Given the description of an element on the screen output the (x, y) to click on. 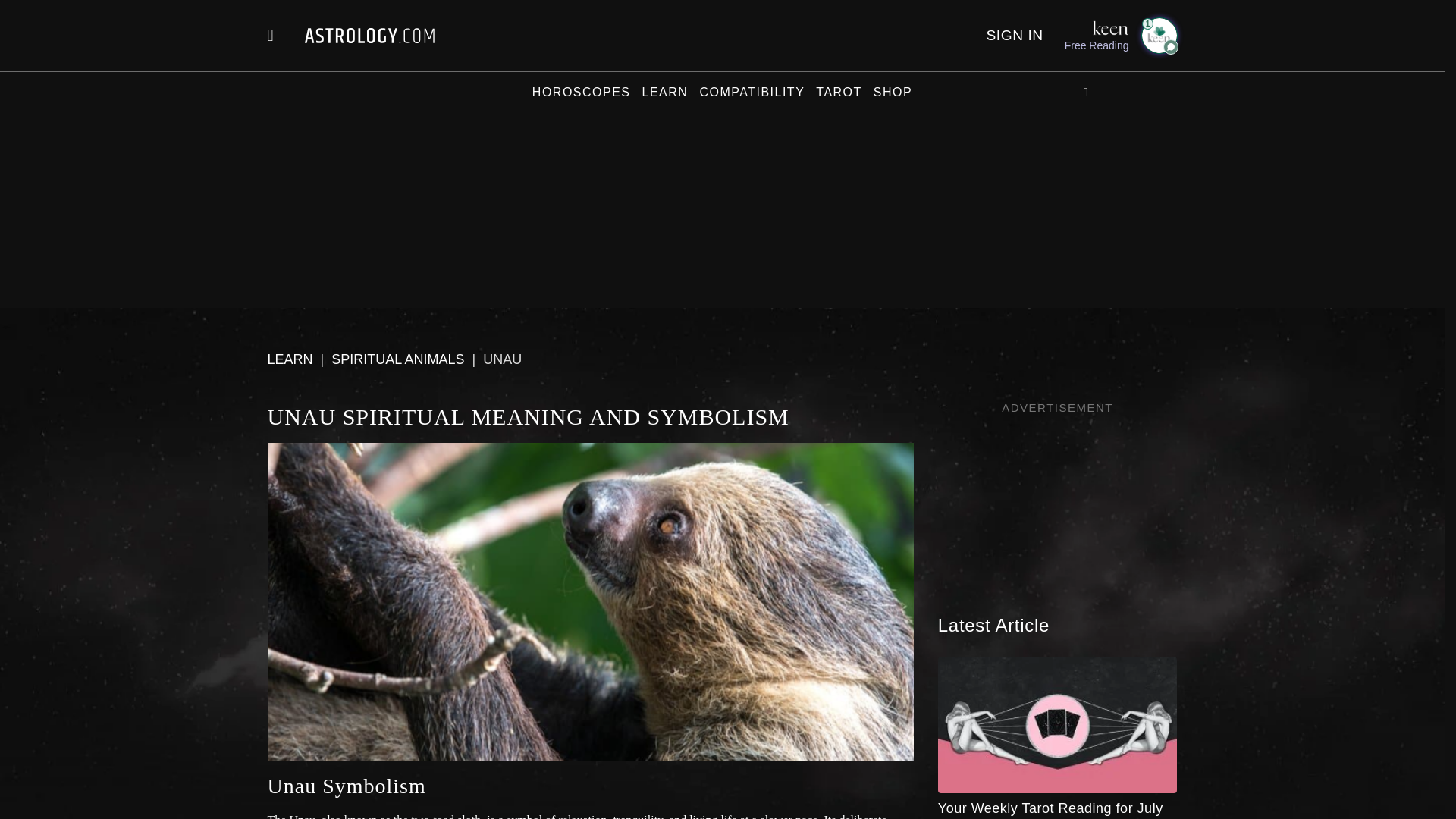
1 (1158, 35)
SIGN IN (1013, 35)
